Given the description of an element on the screen output the (x, y) to click on. 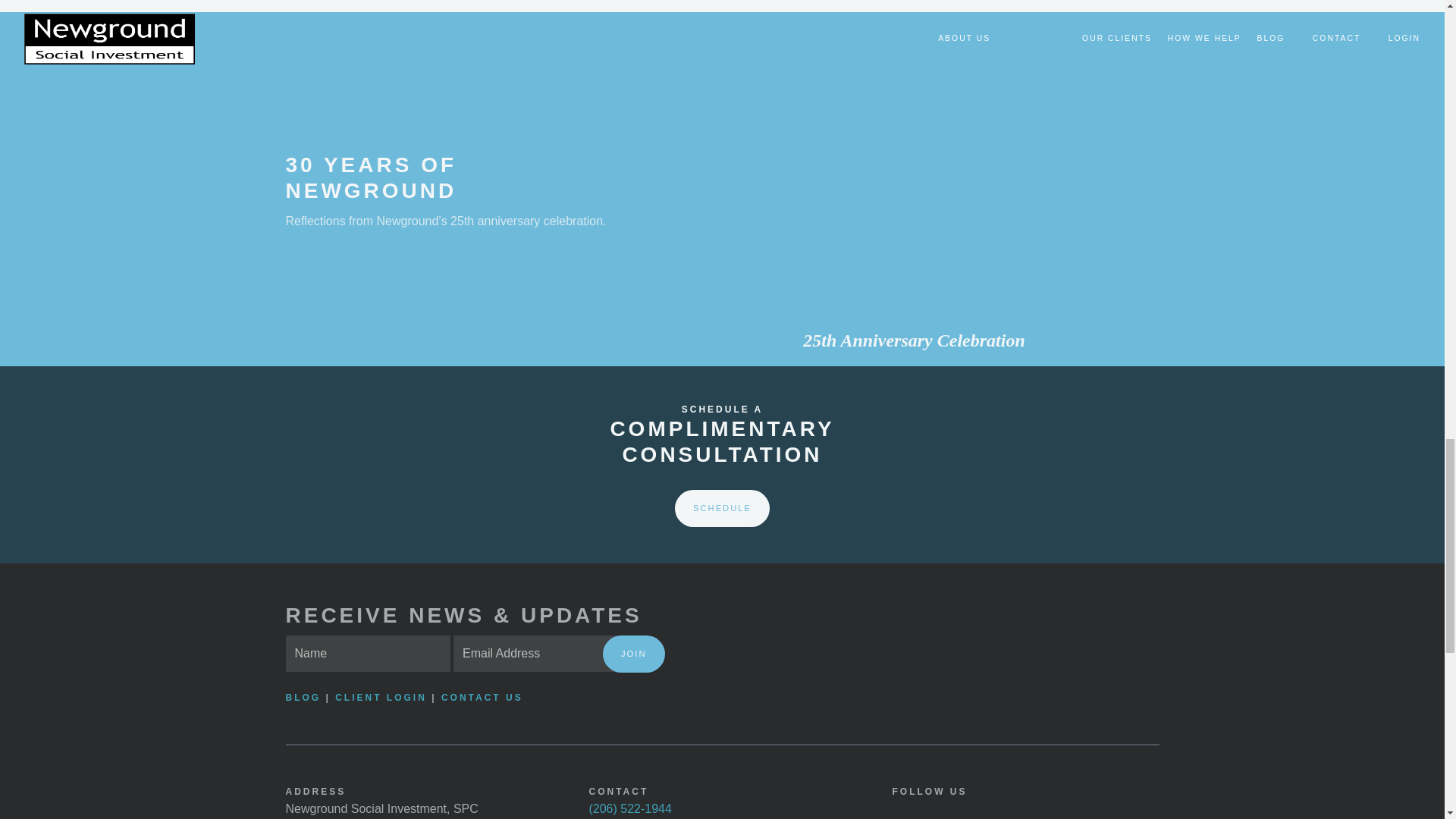
CLIENT LOGIN (380, 697)
BLOG (304, 697)
CONTACT US (481, 697)
Call via Elevate (629, 808)
JOIN (632, 653)
SCHEDULE (722, 508)
